Given the description of an element on the screen output the (x, y) to click on. 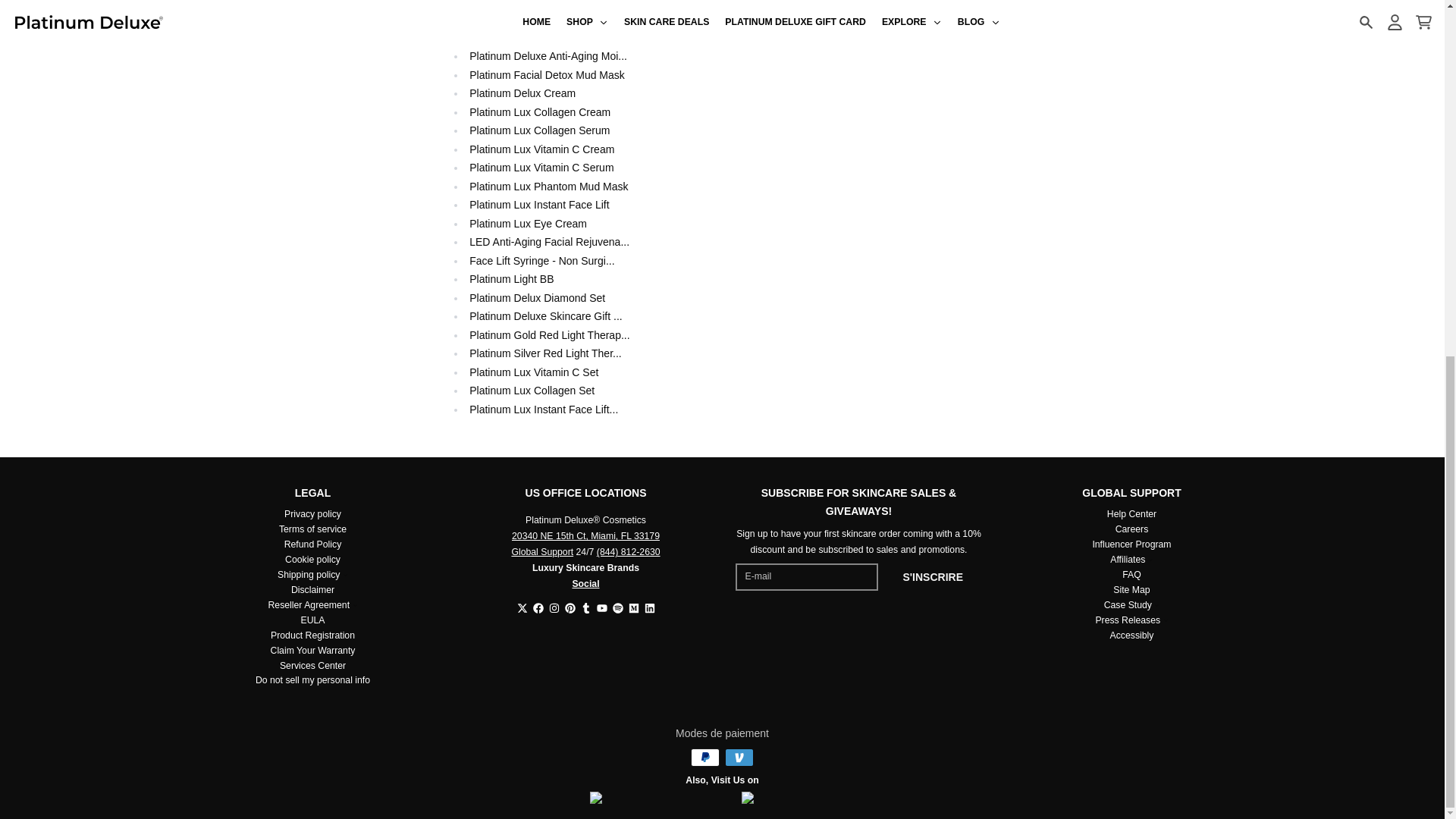
Medium - Platinum Deluxe Cosmetics (633, 607)
Spotify - Platinum Deluxe Cosmetics (617, 607)
Pinterest - Platinum Deluxe Cosmetics (569, 607)
Facebook - Platinum Deluxe Cosmetics (537, 607)
YouTube - Platinum Deluxe Cosmetics (601, 607)
Twitter - Platinum Deluxe Cosmetics (521, 607)
LinkedIn - Platinum Deluxe Cosmetics (650, 607)
Instagram - Platinum Deluxe Cosmetics (553, 607)
Tumblr - Platinum Deluxe Cosmetics (585, 607)
